Given the description of an element on the screen output the (x, y) to click on. 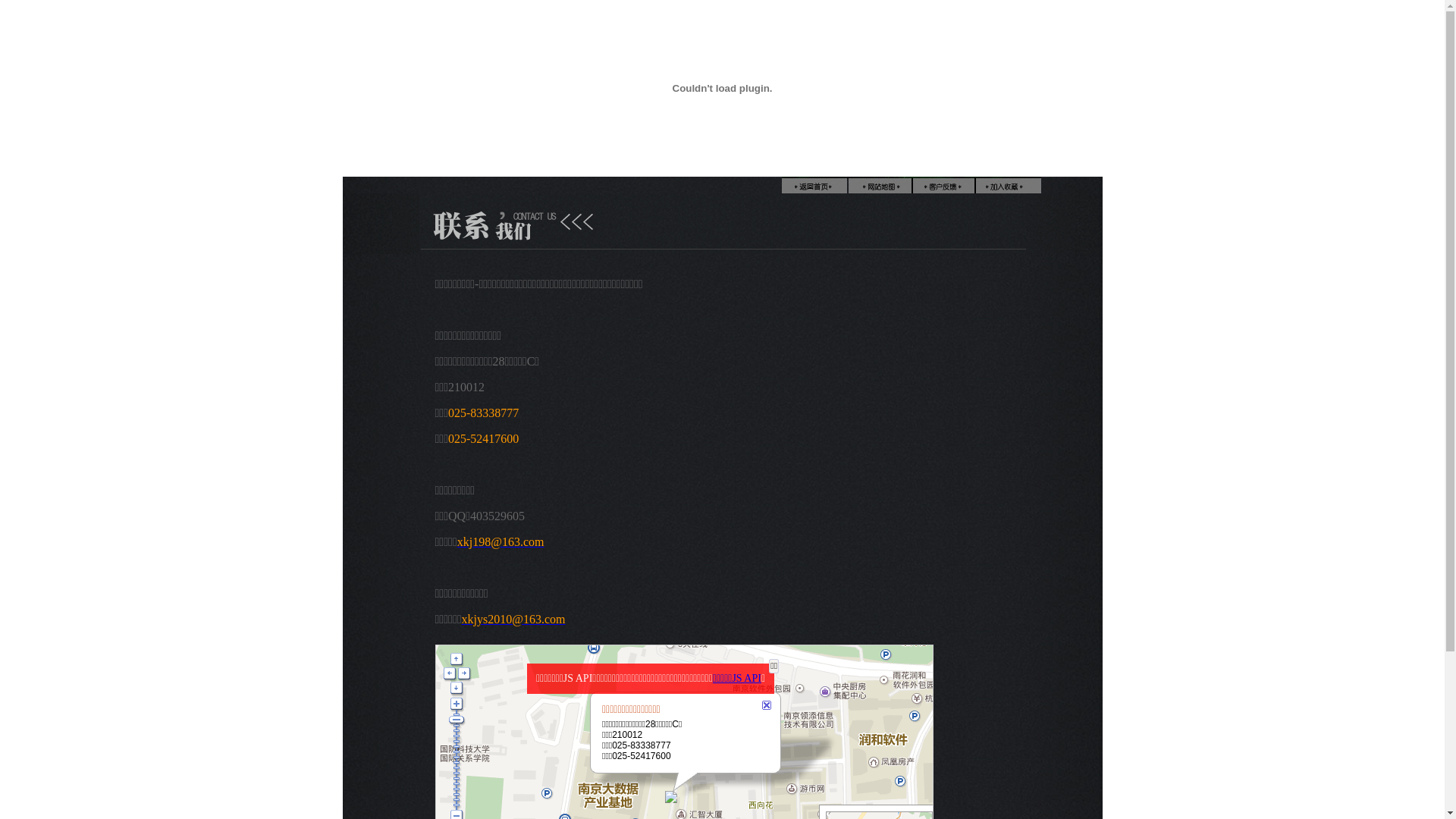
xkj198@163.com Element type: text (500, 541)
xkjys2010@163.com Element type: text (513, 618)
